Given the description of an element on the screen output the (x, y) to click on. 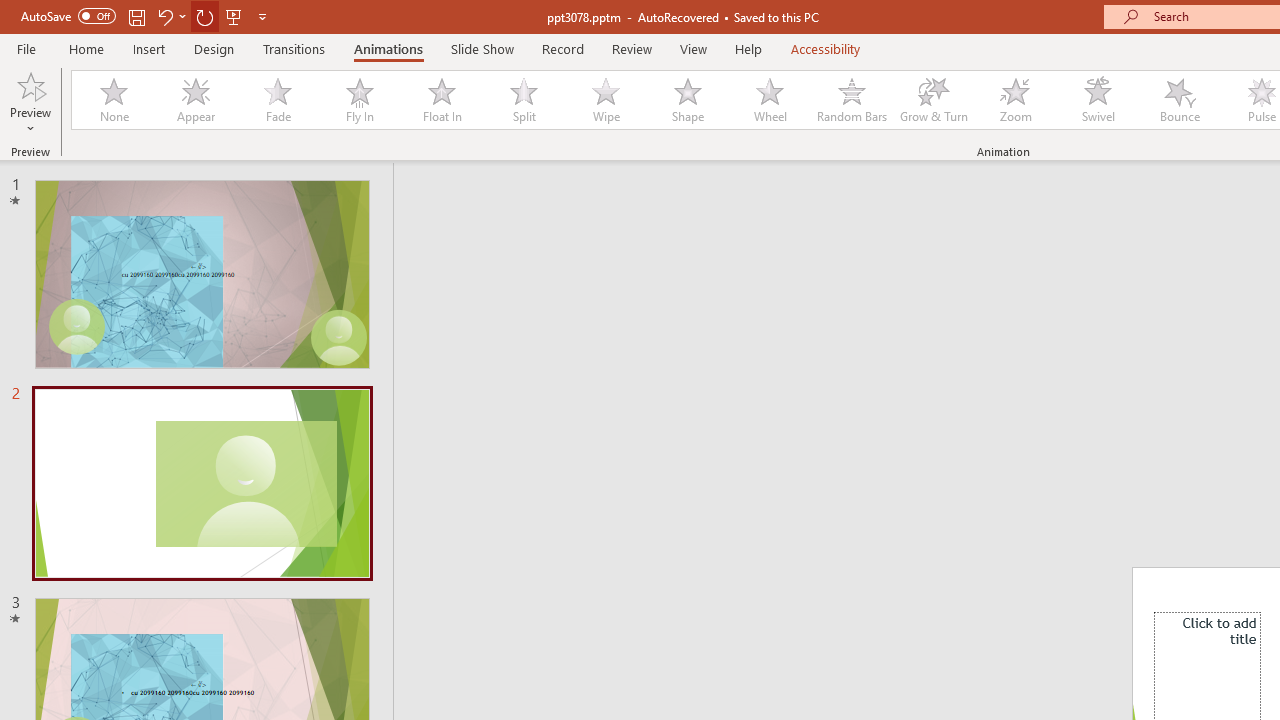
Fly In (359, 100)
Bounce (1180, 100)
Float In (441, 100)
Appear (195, 100)
